Given the description of an element on the screen output the (x, y) to click on. 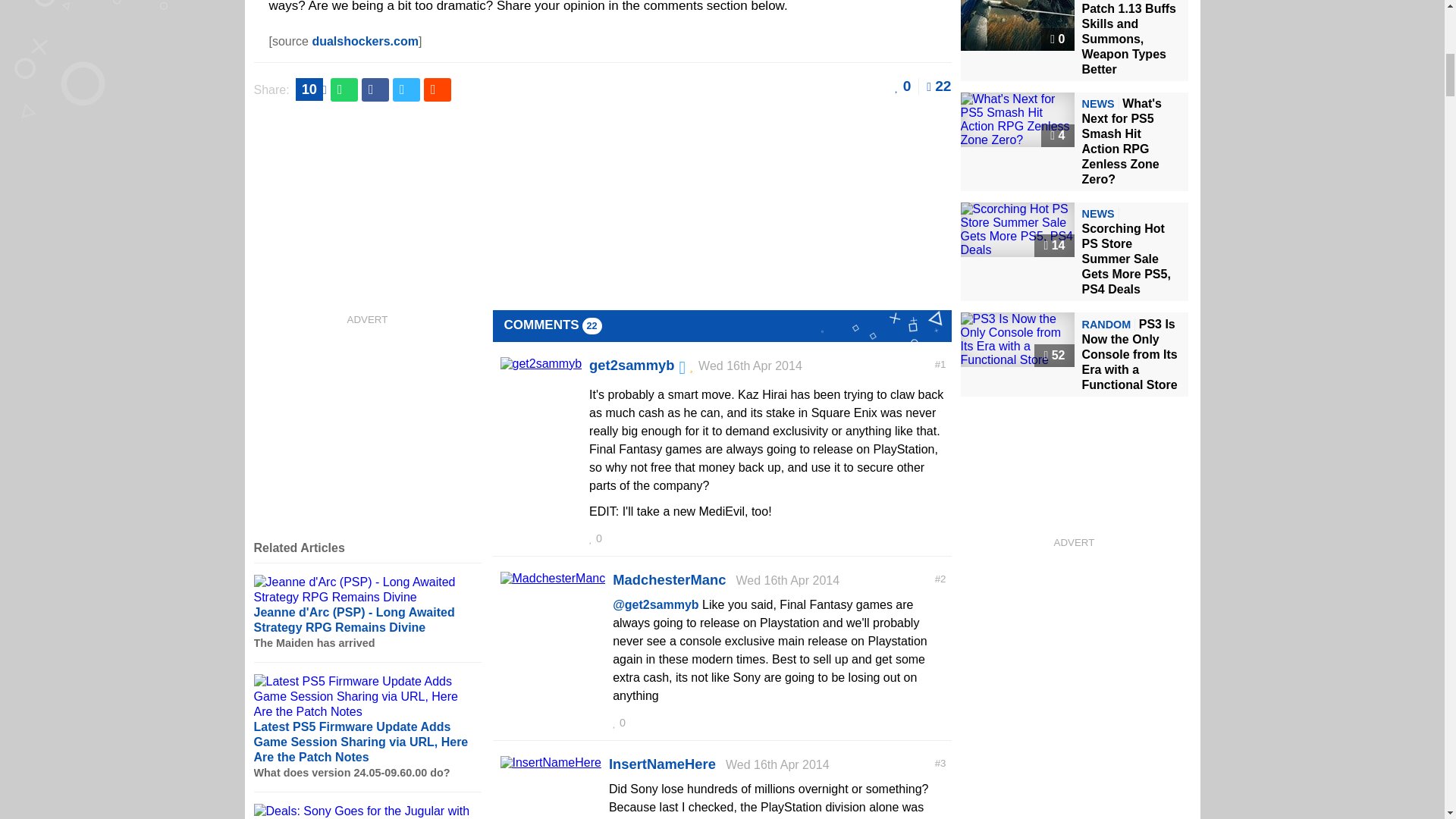
Share this on Facebook (374, 88)
Share this on WhatsApp (344, 88)
